Given the description of an element on the screen output the (x, y) to click on. 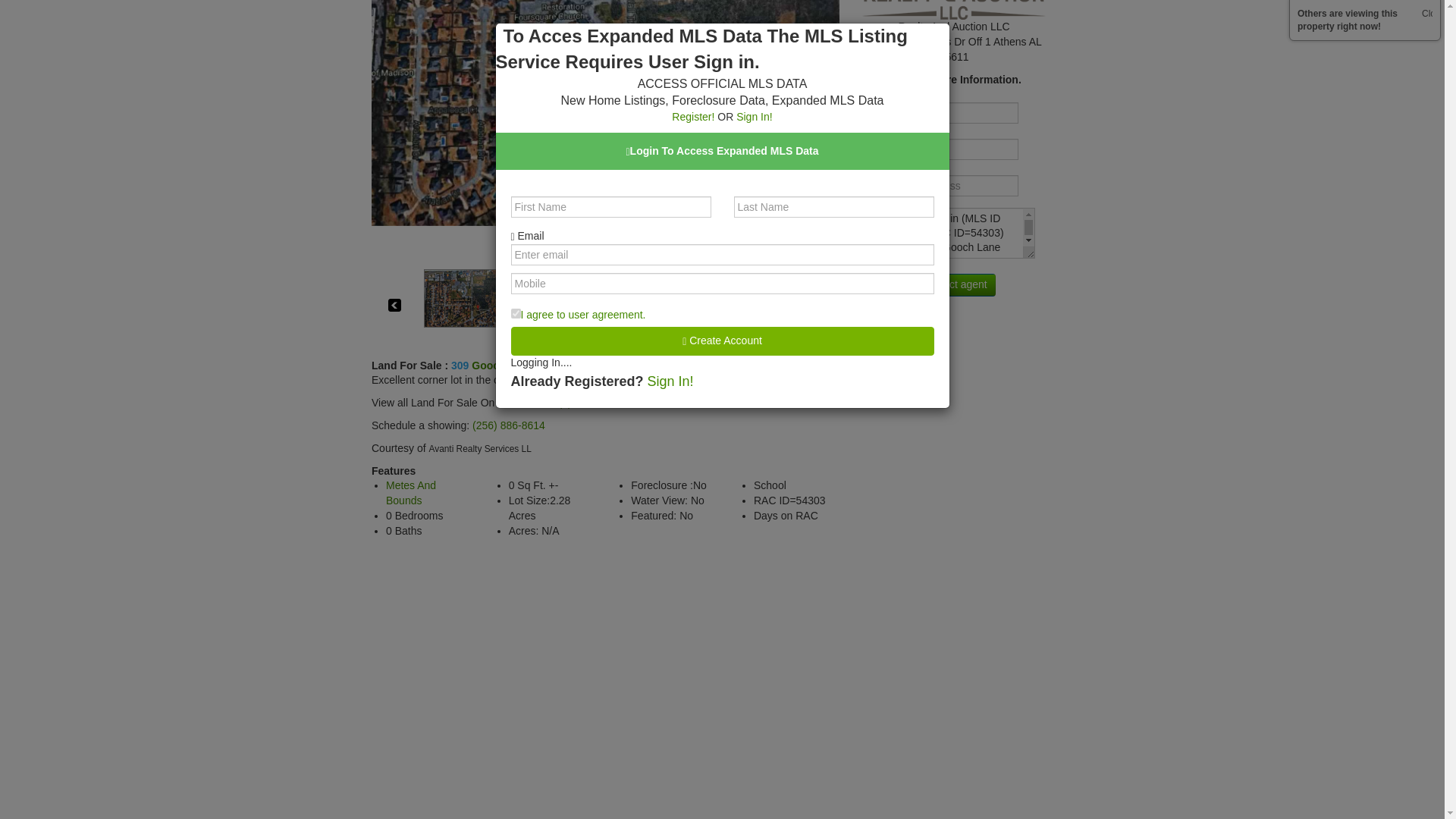
Land For Sale  AL (587, 365)
1 (516, 22)
Land For Sale  Gooch Lane (503, 365)
Land For Sale  Madison (557, 365)
